Given the description of an element on the screen output the (x, y) to click on. 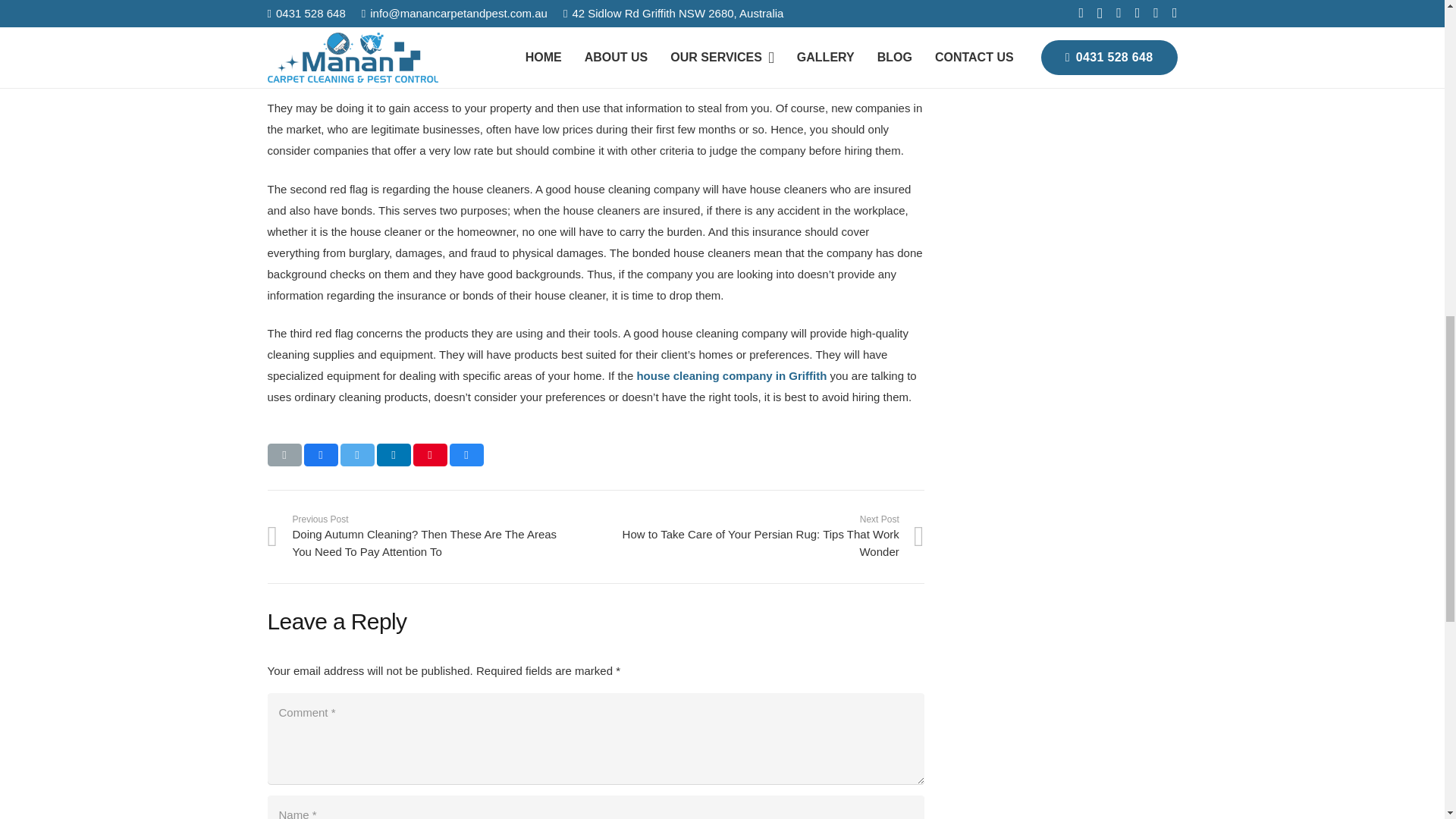
Pin this (429, 454)
Share this (465, 454)
Share this (392, 454)
Email this (283, 454)
Tweet this (356, 454)
Share this (319, 454)
house cleaning company in Griffith (732, 375)
How to Take Care of Your Persian Rug: Tips That Work Wonder (759, 536)
